Given the description of an element on the screen output the (x, y) to click on. 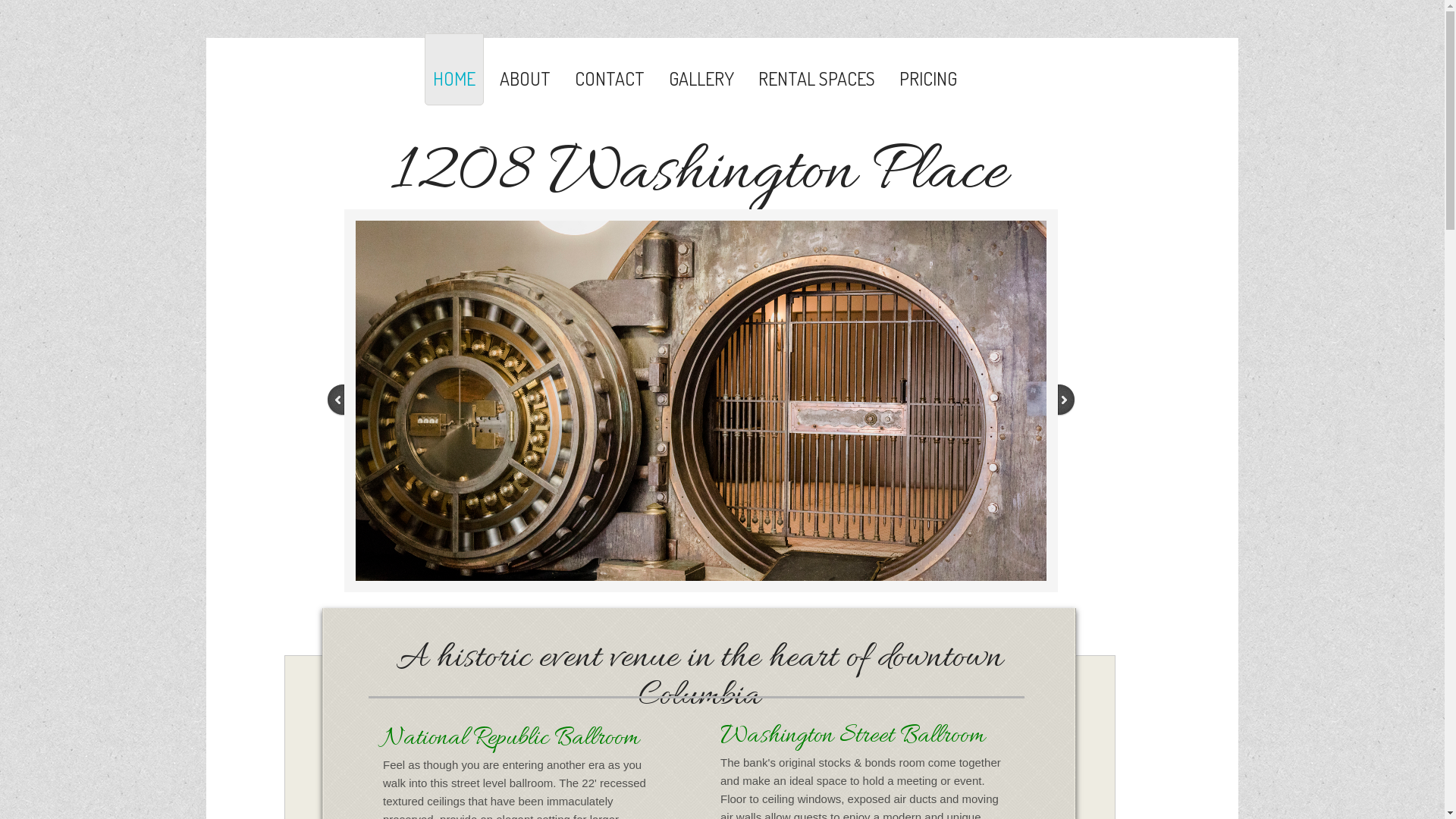
CONTACT Element type: text (609, 69)
RENTAL SPACES Element type: text (816, 69)
PRICING Element type: text (928, 69)
GALLERY Element type: text (701, 69)
HOME Element type: text (453, 69)
ABOUT Element type: text (524, 69)
